Given the description of an element on the screen output the (x, y) to click on. 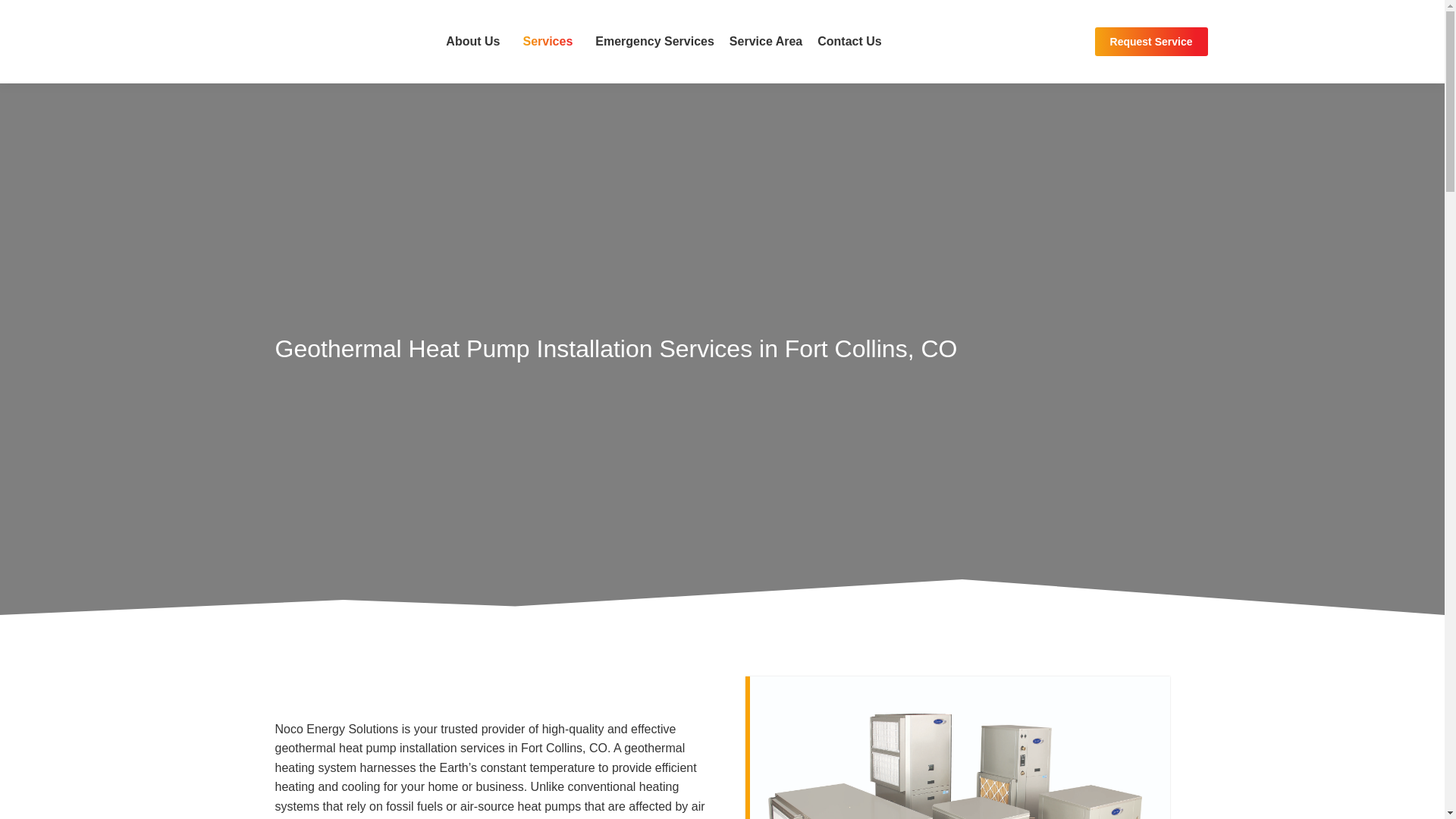
Service Areas (765, 41)
Contact Us (848, 41)
Contact Us (848, 41)
About NOCO Energy Solutions (476, 41)
Request Service (1151, 41)
Emergenecy Services (654, 41)
Services (551, 41)
Services (551, 41)
Service Area (765, 41)
Emergency Services (654, 41)
About Us (476, 41)
